Given the description of an element on the screen output the (x, y) to click on. 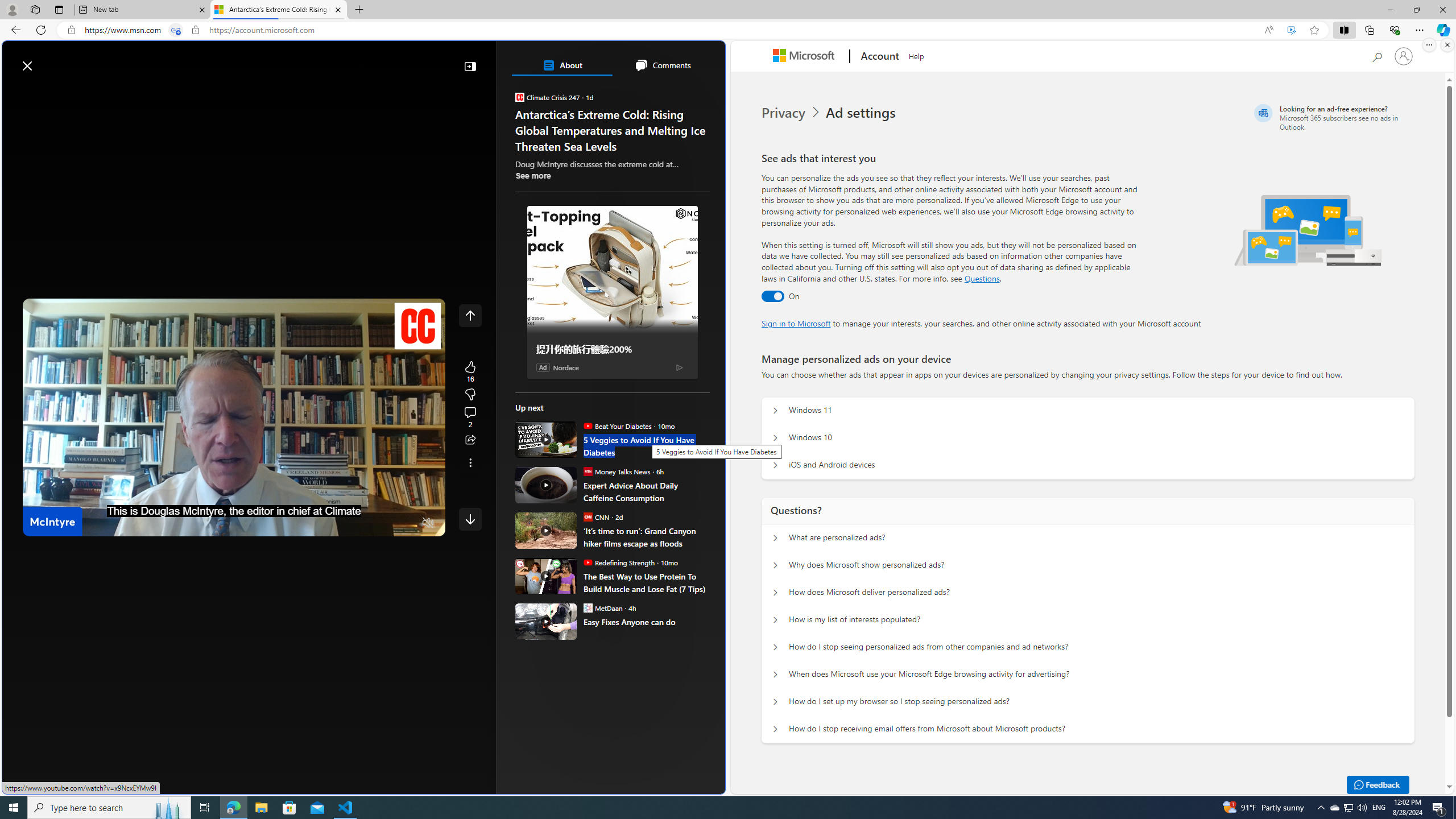
Money Talks News (587, 470)
Money Talks News Money Talks News (616, 470)
Comments (662, 64)
